Given the description of an element on the screen output the (x, y) to click on. 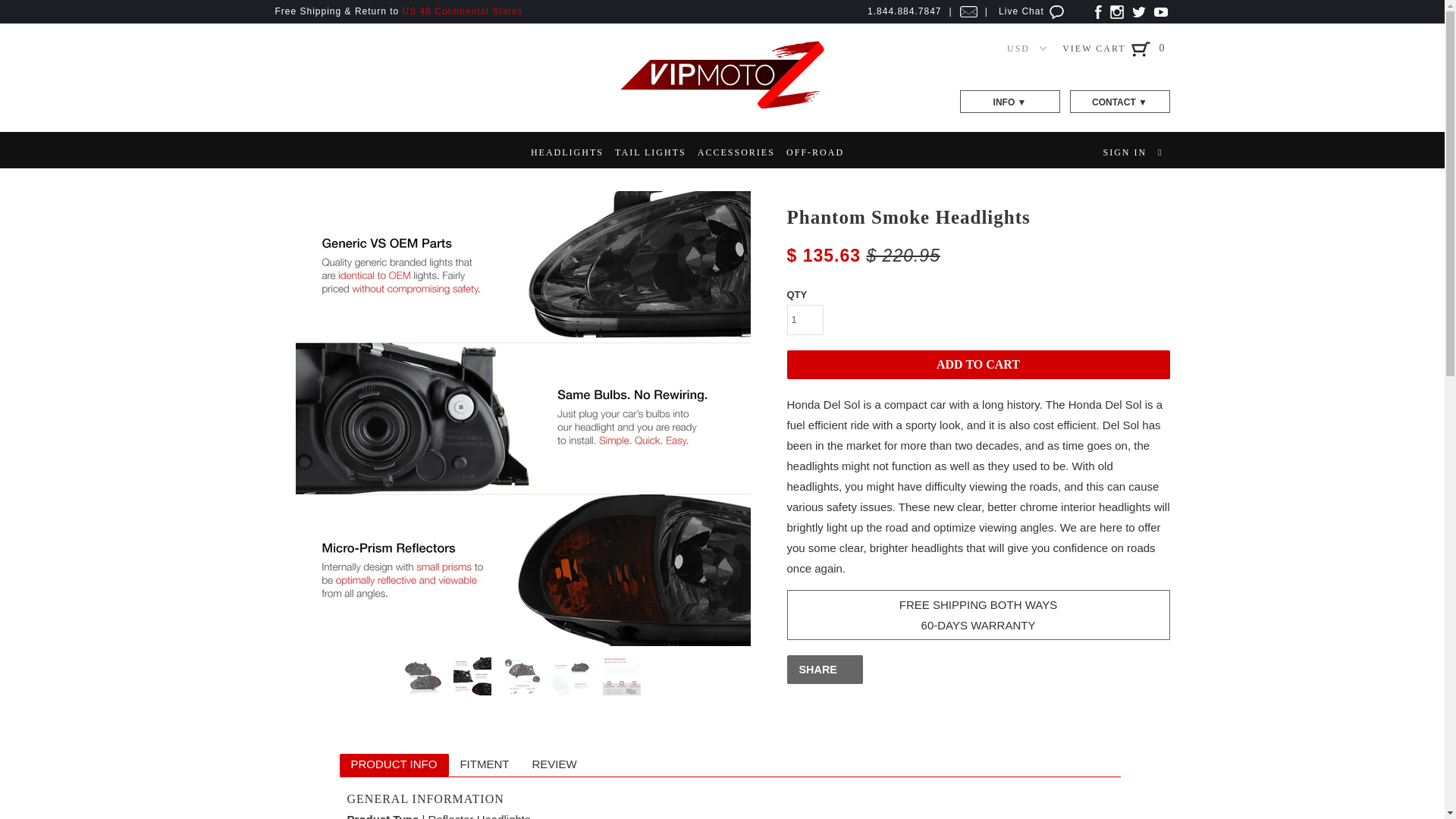
0 (1162, 48)
Live Chat (1032, 10)
TAIL LIGHTS (649, 152)
HEADLIGHTS (567, 152)
OFF-ROAD (815, 152)
ACCESSORIES (735, 152)
Vipmotoz on Facebook (1098, 10)
Search (1160, 152)
ACCESSORIES (735, 152)
Vipmotoz on Youtube (1160, 10)
OFF-ROAD (815, 152)
Vipmotoz (722, 105)
VIEW CART (1107, 48)
1993-1997 Honda Civic Del Sol Smoked Headlight (137, 418)
